Given the description of an element on the screen output the (x, y) to click on. 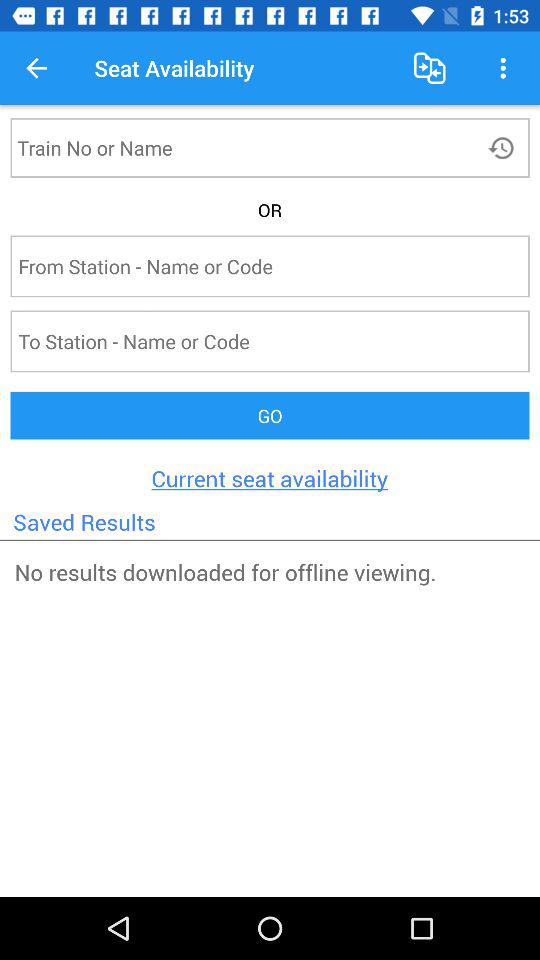
input starting station (237, 266)
